Given the description of an element on the screen output the (x, y) to click on. 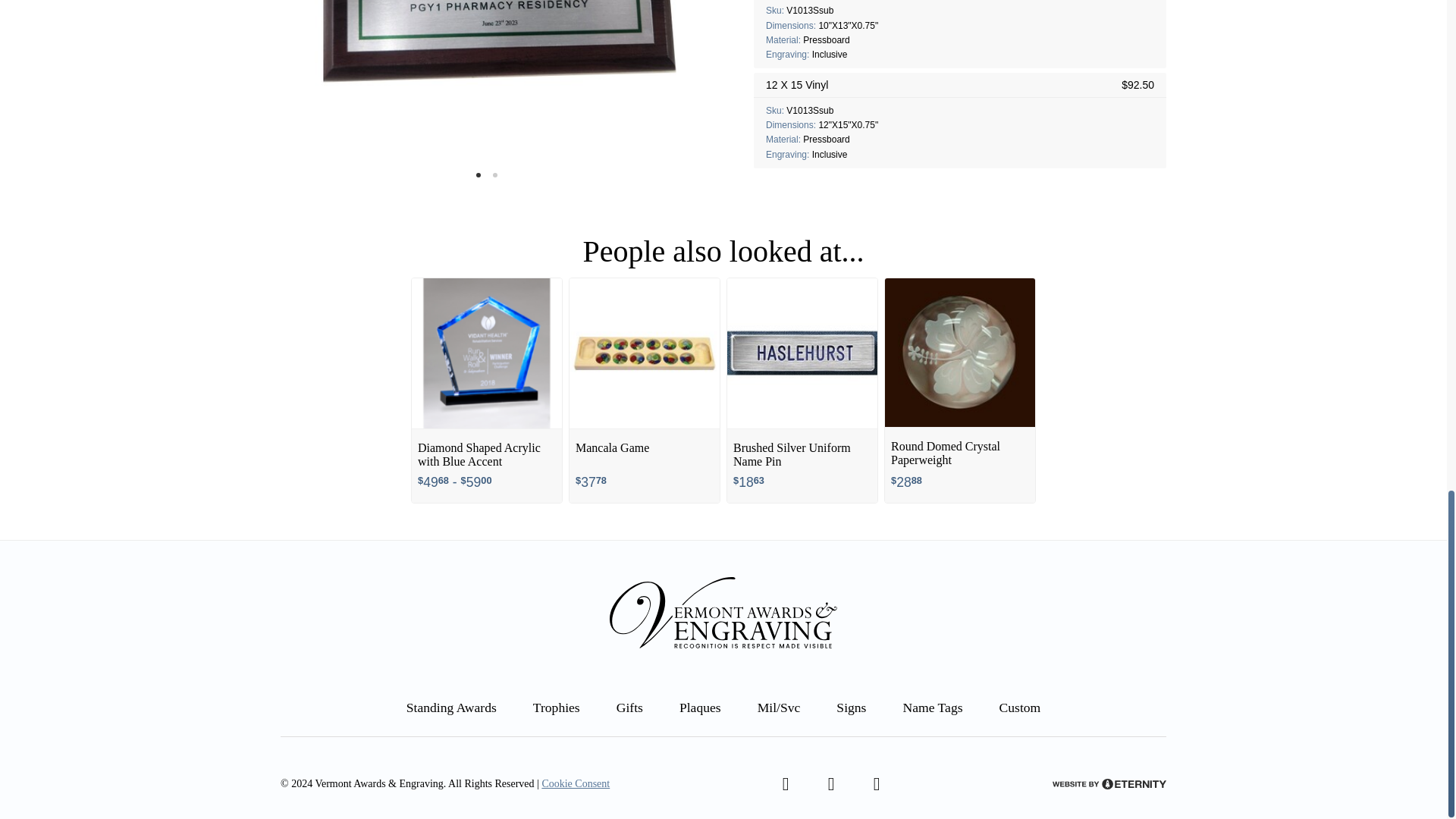
Find us on Facebook (785, 783)
Follow us on Twitter (830, 783)
Follow us on Instagram (877, 783)
